Given the description of an element on the screen output the (x, y) to click on. 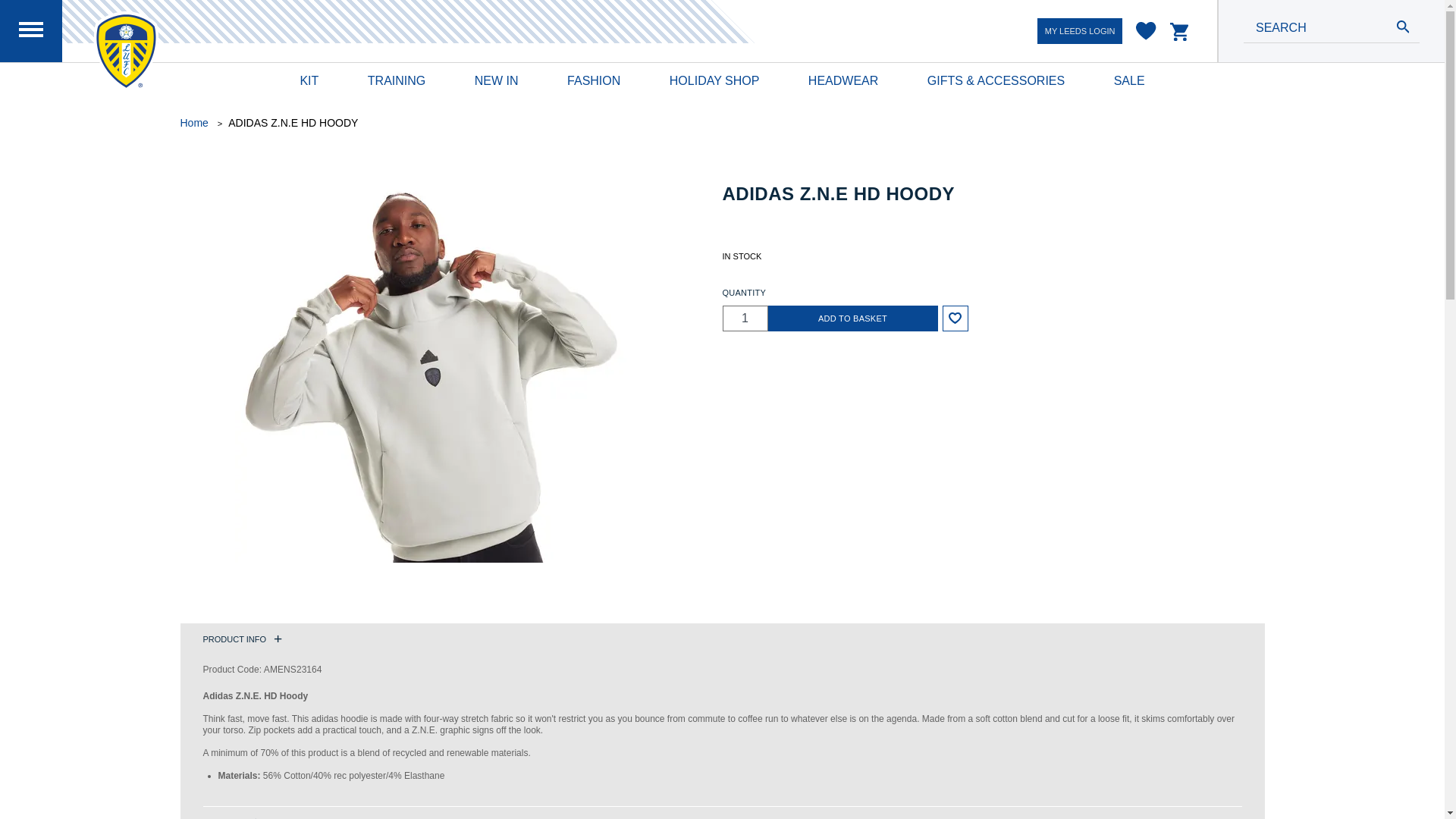
1 (744, 318)
Search (1402, 28)
MY LEEDS LOGIN (1079, 31)
